Given the description of an element on the screen output the (x, y) to click on. 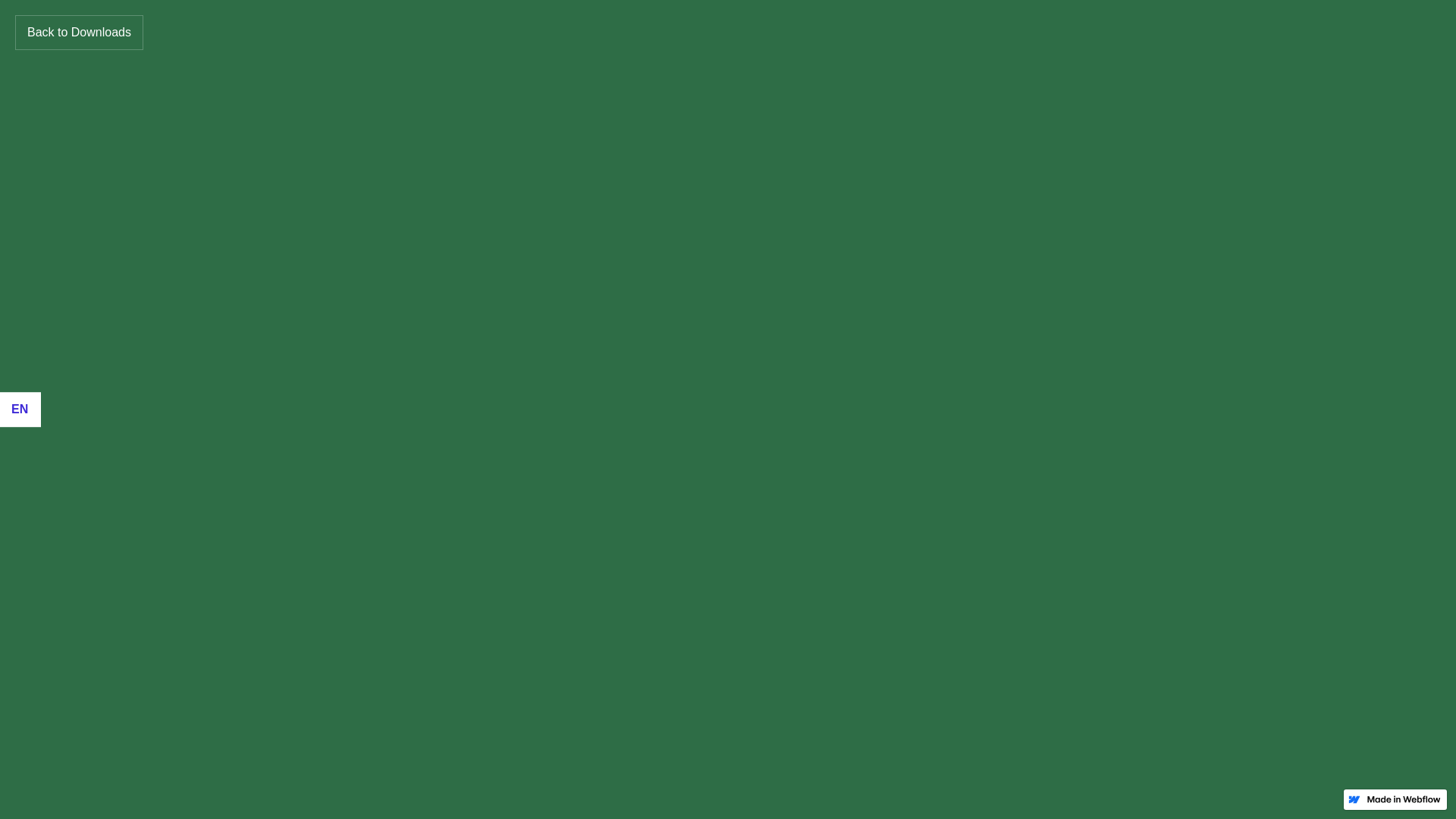
Back to Downloads Element type: text (79, 32)
